Given the description of an element on the screen output the (x, y) to click on. 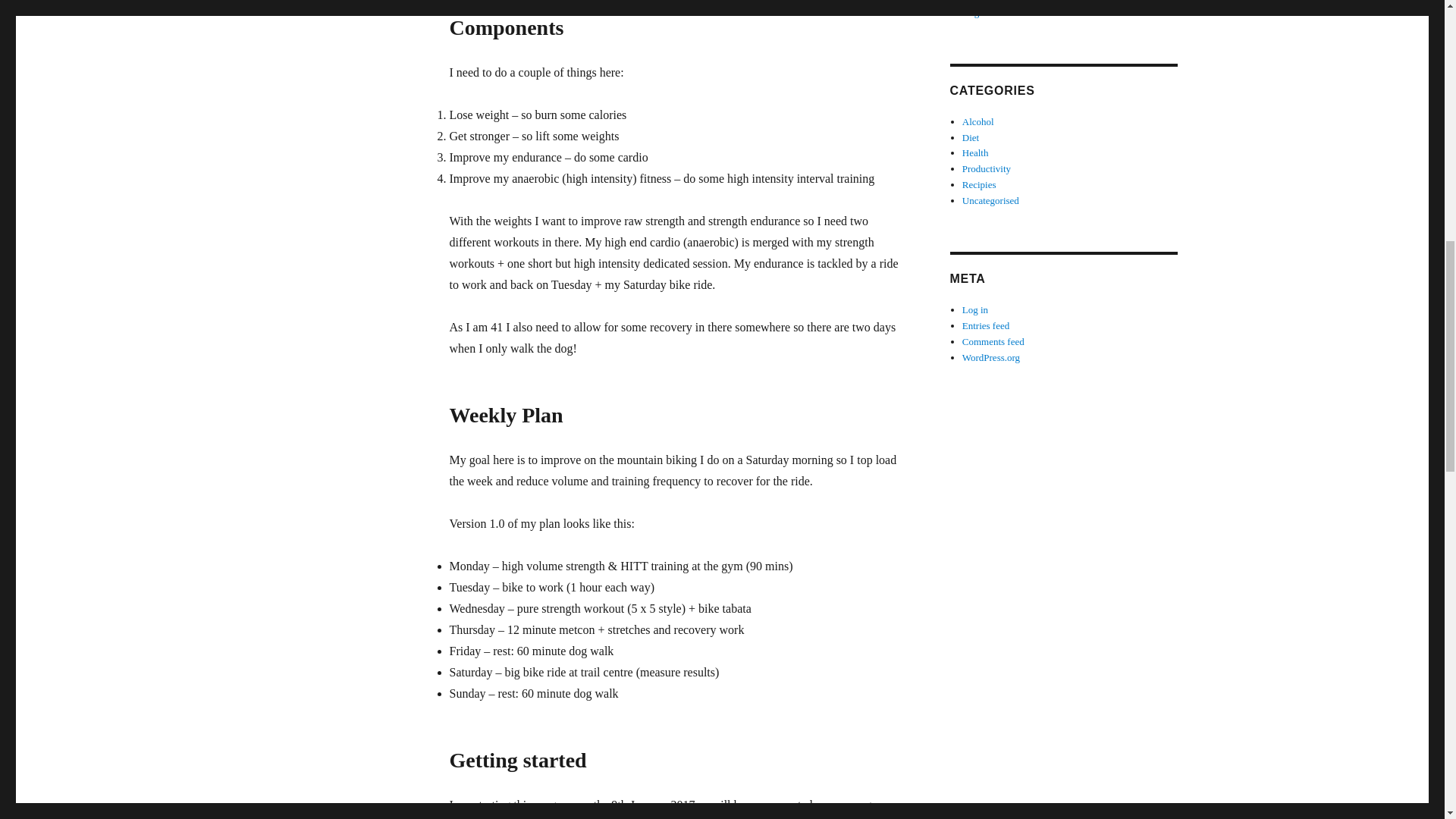
Productivity (986, 168)
Health (975, 152)
Recipies (978, 184)
Log in (975, 309)
August 2015 (987, 12)
Diet (970, 137)
Entries feed (985, 325)
Uncategorised (990, 200)
Alcohol (978, 121)
Comments feed (993, 341)
